Given the description of an element on the screen output the (x, y) to click on. 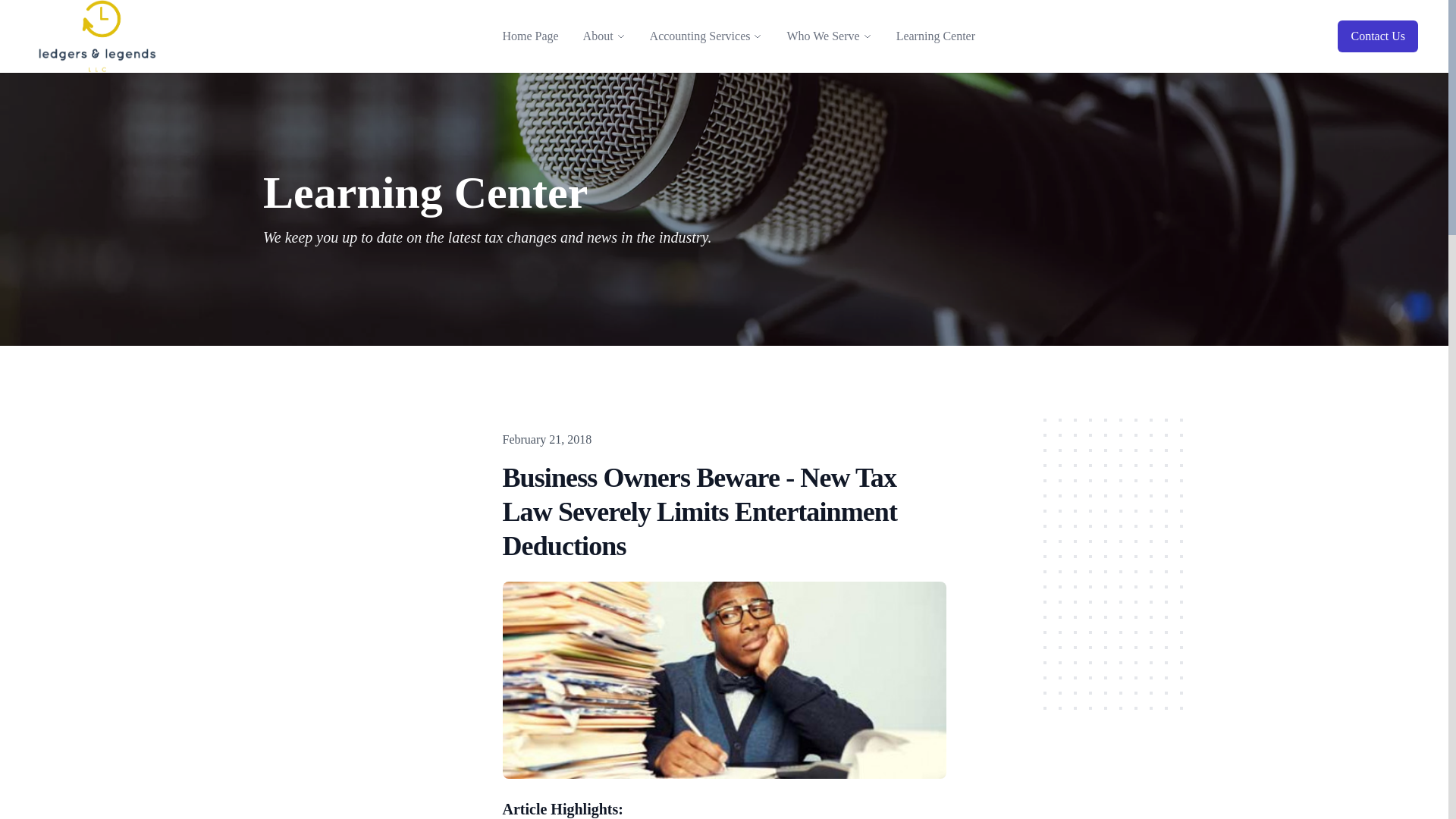
Accounting Services (700, 36)
Home Page (529, 36)
Contact Us (1378, 36)
About (597, 36)
Entertainers Niche Full Site (96, 36)
Home Page (529, 36)
Learning Center (935, 36)
Learning Center (935, 36)
Who We Serve (822, 36)
